Given the description of an element on the screen output the (x, y) to click on. 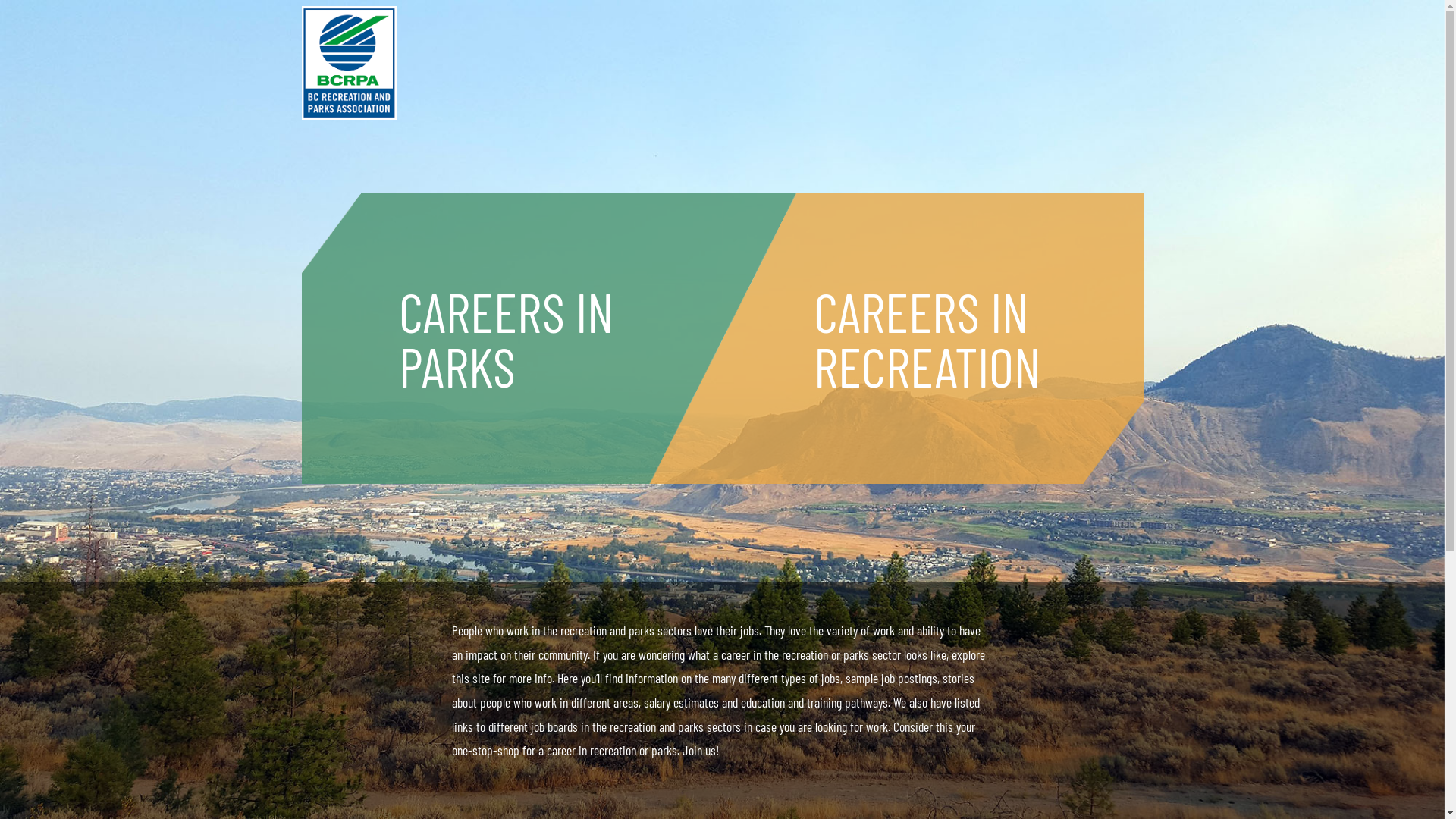
Careers in Parks &amp; Recreation Element type: text (358, 62)
CAREERS IN
PARKS Element type: text (508, 341)
CAREERS IN
RECREATION Element type: text (928, 341)
